Given the description of an element on the screen output the (x, y) to click on. 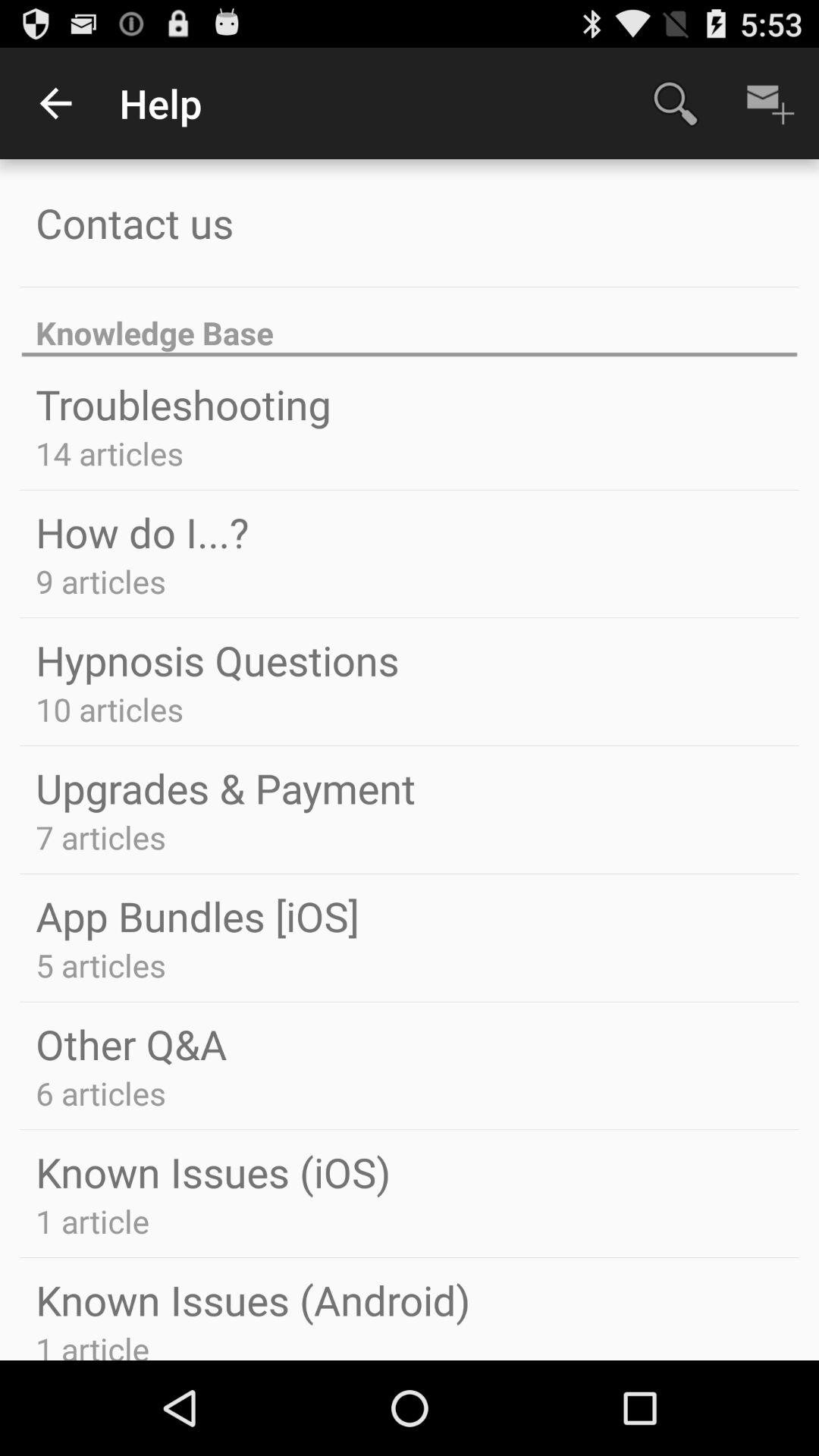
scroll to the 5 articles icon (100, 964)
